Given the description of an element on the screen output the (x, y) to click on. 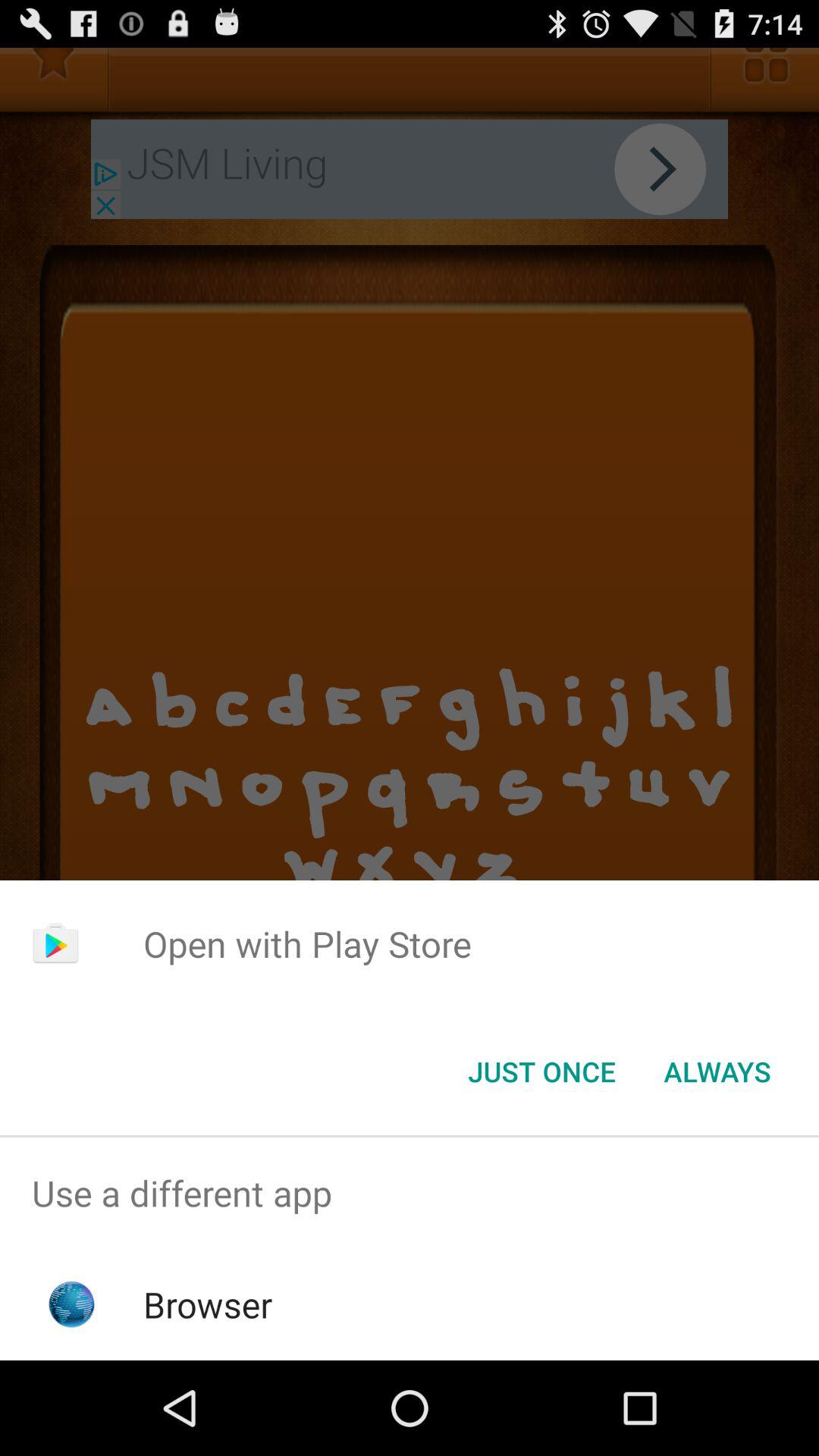
turn off the browser item (207, 1304)
